Given the description of an element on the screen output the (x, y) to click on. 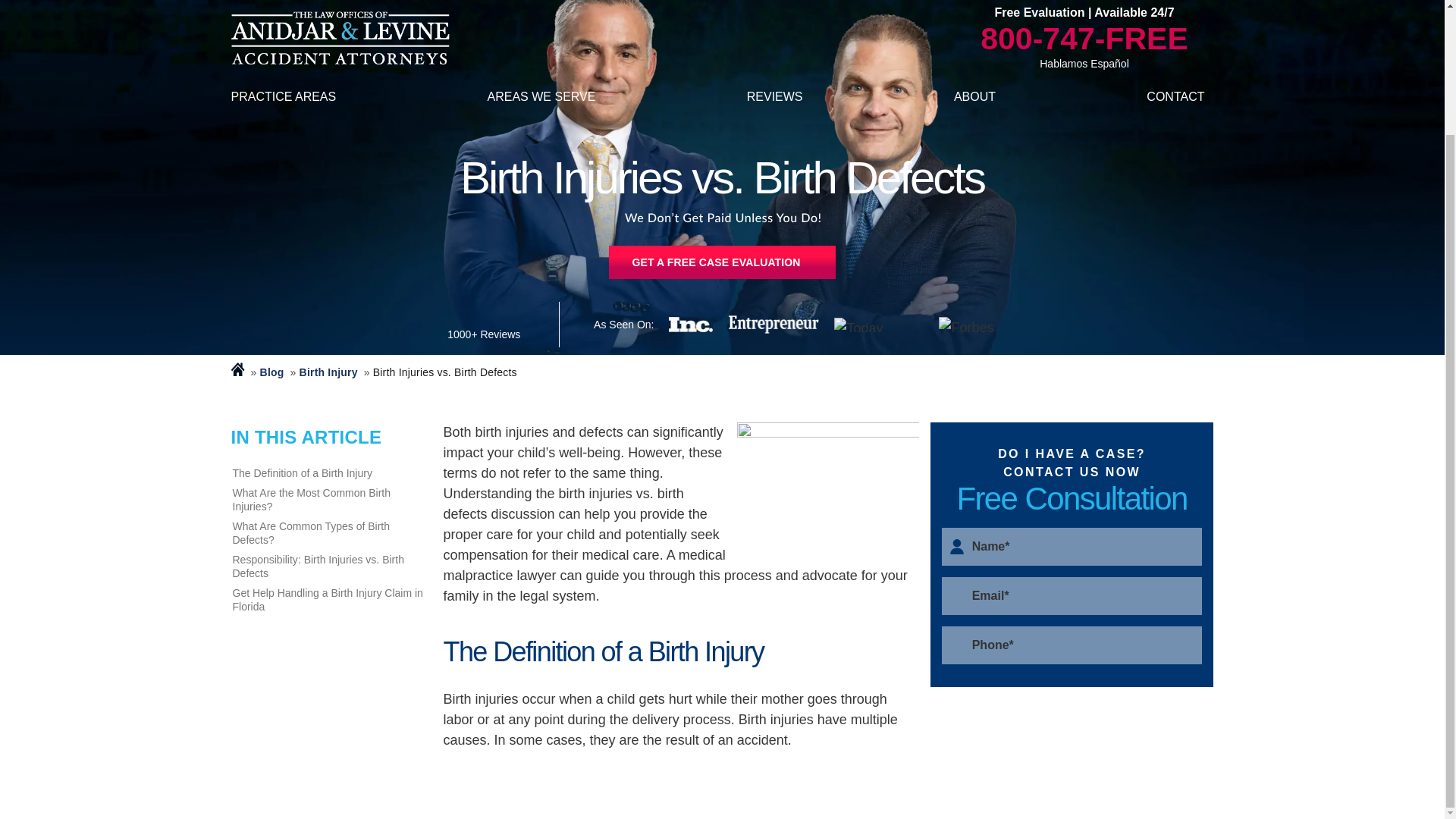
The Definition of a Birth Injury (328, 473)
What Are Common Types of Birth Defects? (328, 532)
Get Help Handling a Birth Injury Claim in Florida (328, 599)
What Are the Most Common Birth Injuries? (328, 499)
Inc. (690, 324)
Responsibility: Birth Injuries vs. Birth Defects (328, 566)
SPEAK TO AN ATTORNEY NOW  (721, 262)
Today (878, 323)
Entreprenuer (773, 324)
Forbes (971, 324)
